Given the description of an element on the screen output the (x, y) to click on. 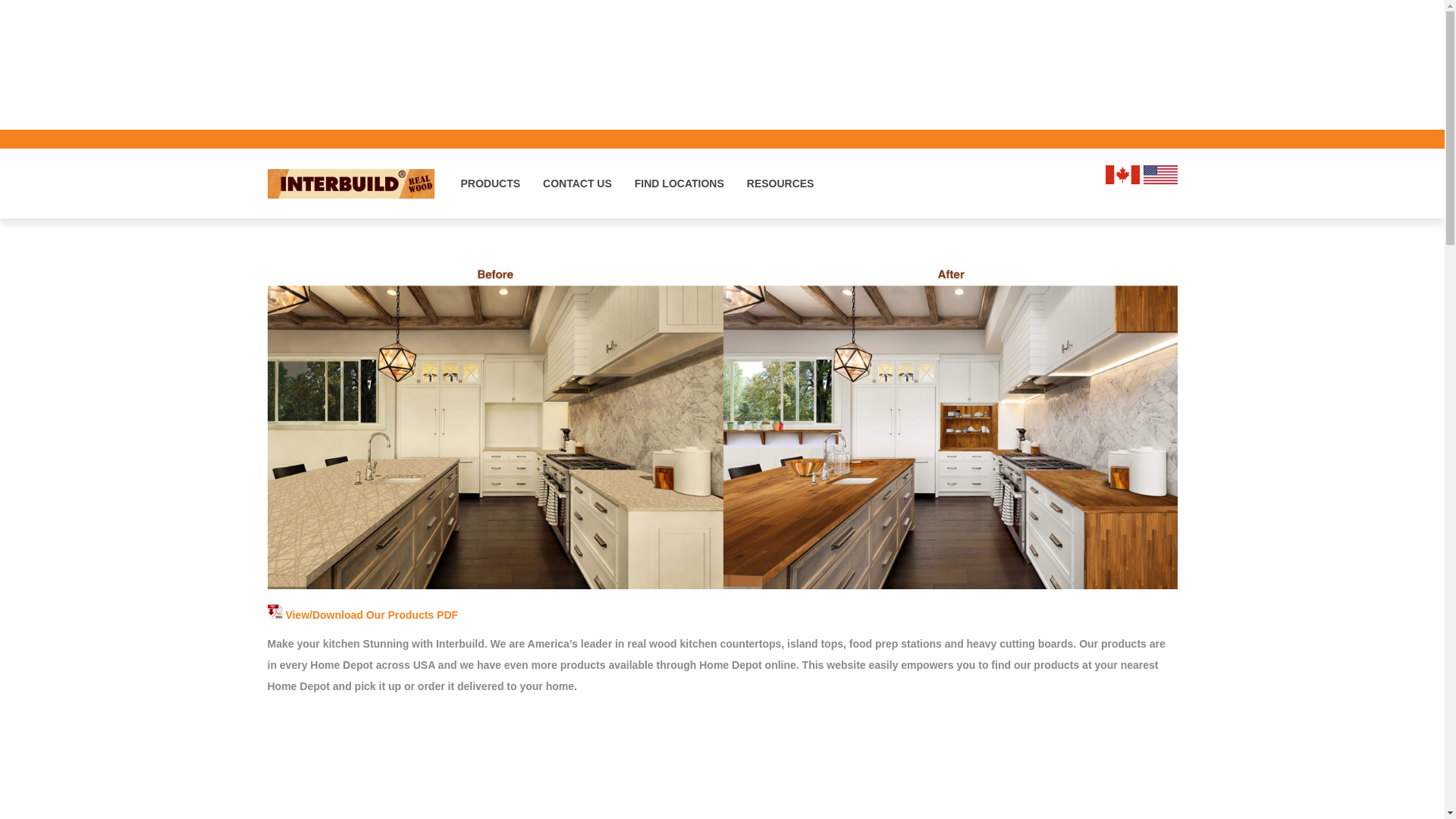
Contact Us (577, 183)
CONTACT US (577, 183)
Interbuild Logo (349, 183)
Find Locations (679, 183)
Products (489, 183)
PRODUCTS (489, 183)
RESOURCES (780, 183)
Resources (780, 183)
FIND LOCATIONS (679, 183)
